Given the description of an element on the screen output the (x, y) to click on. 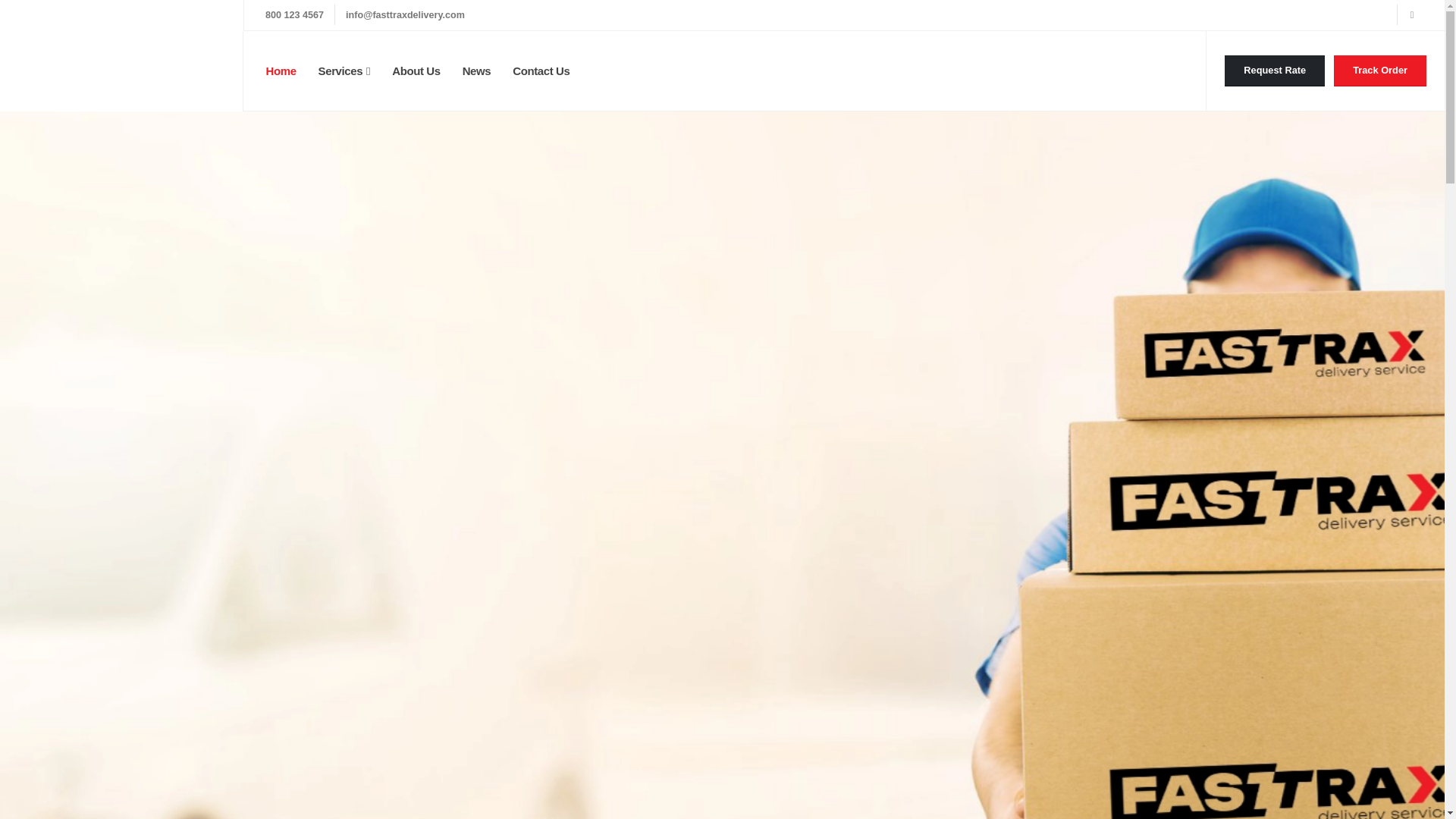
800 123 4567 (293, 14)
Track Order (1379, 70)
Contact Fast Trax Delivery (1274, 70)
Facebook (1411, 14)
Fast Trax Delivery -  (121, 55)
Contact Us (540, 70)
Request Rate (1274, 70)
Services (344, 70)
